Given the description of an element on the screen output the (x, y) to click on. 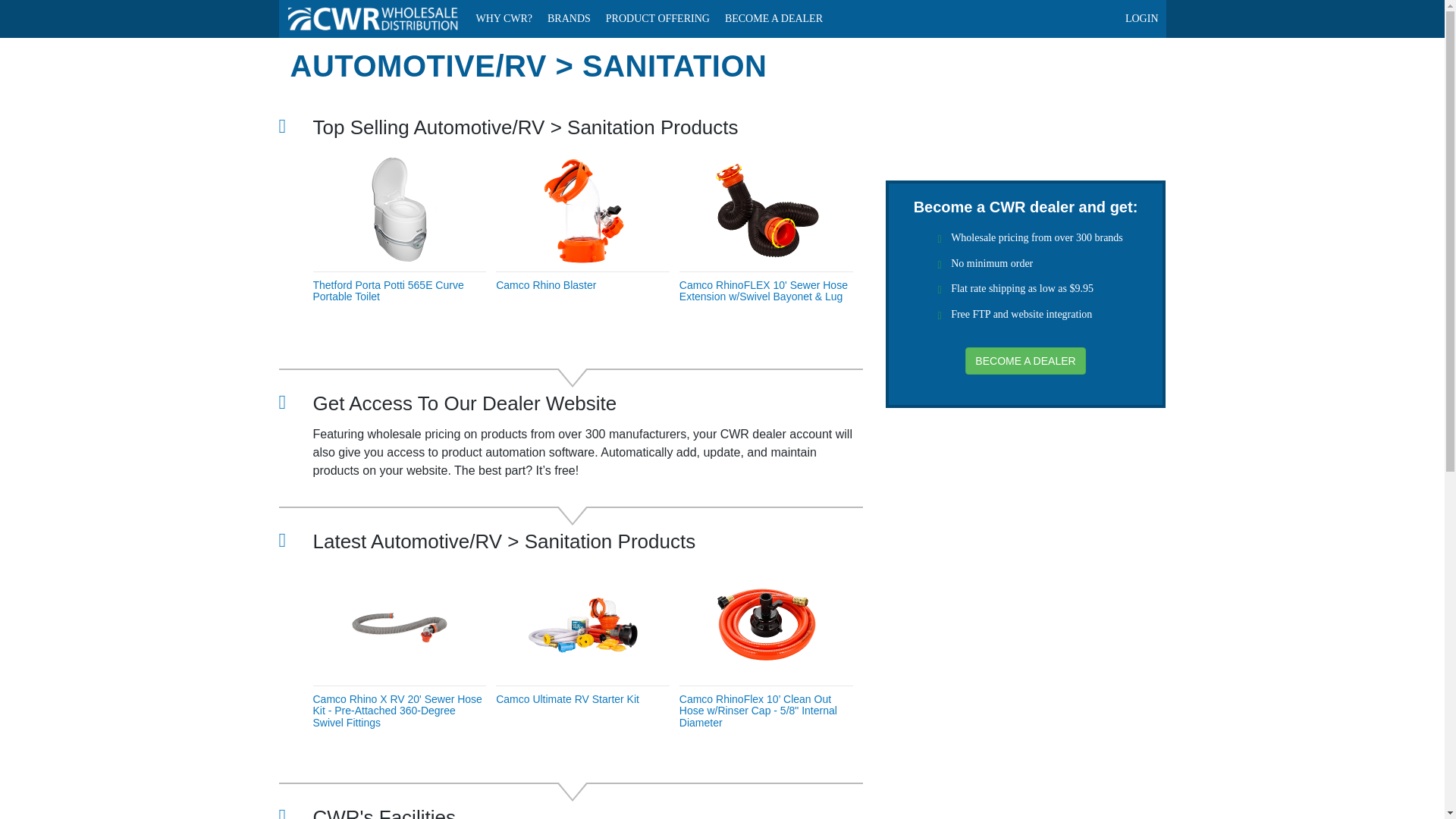
BRANDS (569, 18)
PRODUCT OFFERING (657, 18)
BECOME A DEALER (1024, 360)
BECOME A DEALER (773, 18)
Camco Rhino Blaster (545, 285)
Become a Dealer (773, 18)
Thetford Porta Potti 565E Curve Portable Toilet (388, 290)
LOGIN (1142, 18)
Camco Ultimate RV Starter Kit (567, 698)
Login (1142, 18)
WHY CWR? (504, 18)
